Given the description of an element on the screen output the (x, y) to click on. 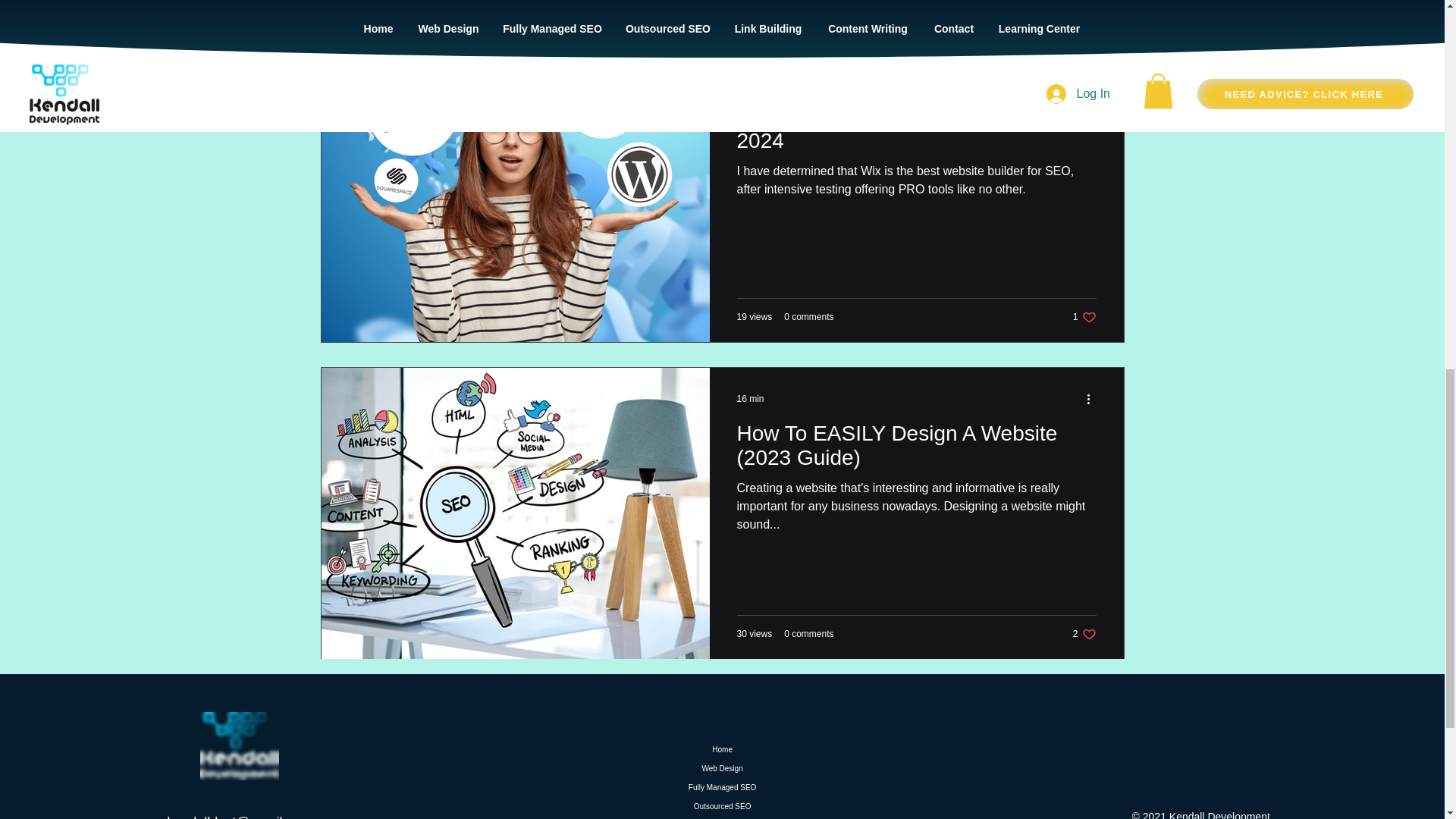
Web Design (722, 768)
Home (722, 749)
0 comments (808, 633)
Best Website Builders for SEO in 2024 (916, 133)
16 min (750, 398)
0 comments (1084, 634)
16 min (808, 317)
Fully Managed SEO (750, 81)
Outsourced SEO (722, 787)
Link Building (722, 805)
